Given the description of an element on the screen output the (x, y) to click on. 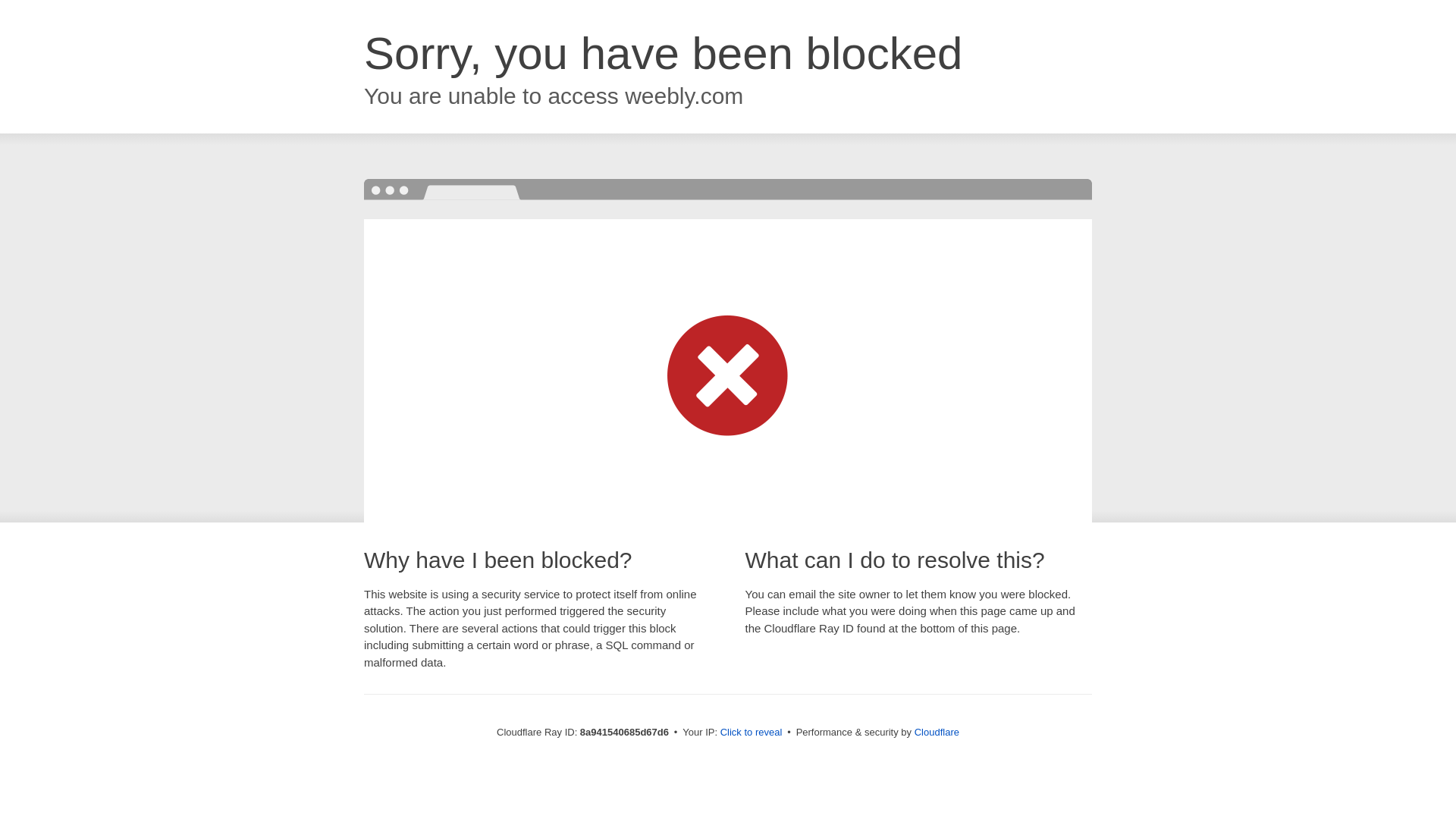
Cloudflare (936, 731)
Click to reveal (751, 732)
